Given the description of an element on the screen output the (x, y) to click on. 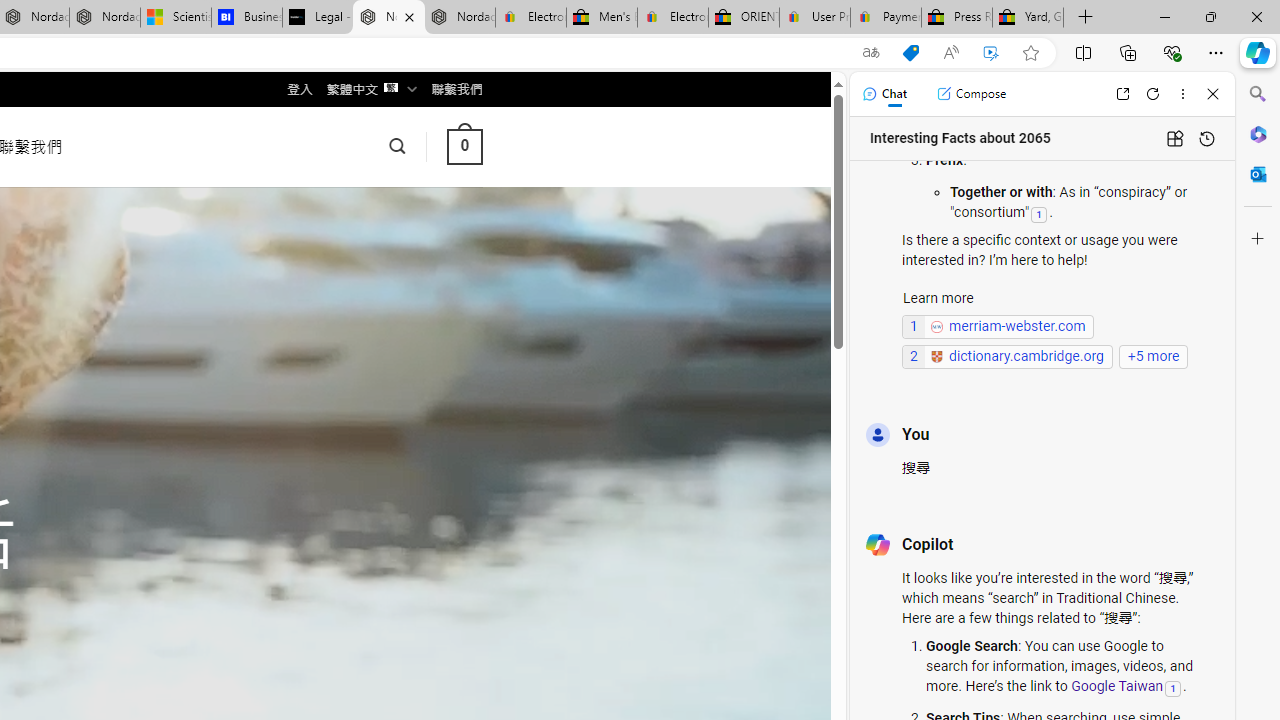
Minimize Search pane (1258, 94)
This site has coupons! Shopping in Microsoft Edge (910, 53)
